Given the description of an element on the screen output the (x, y) to click on. 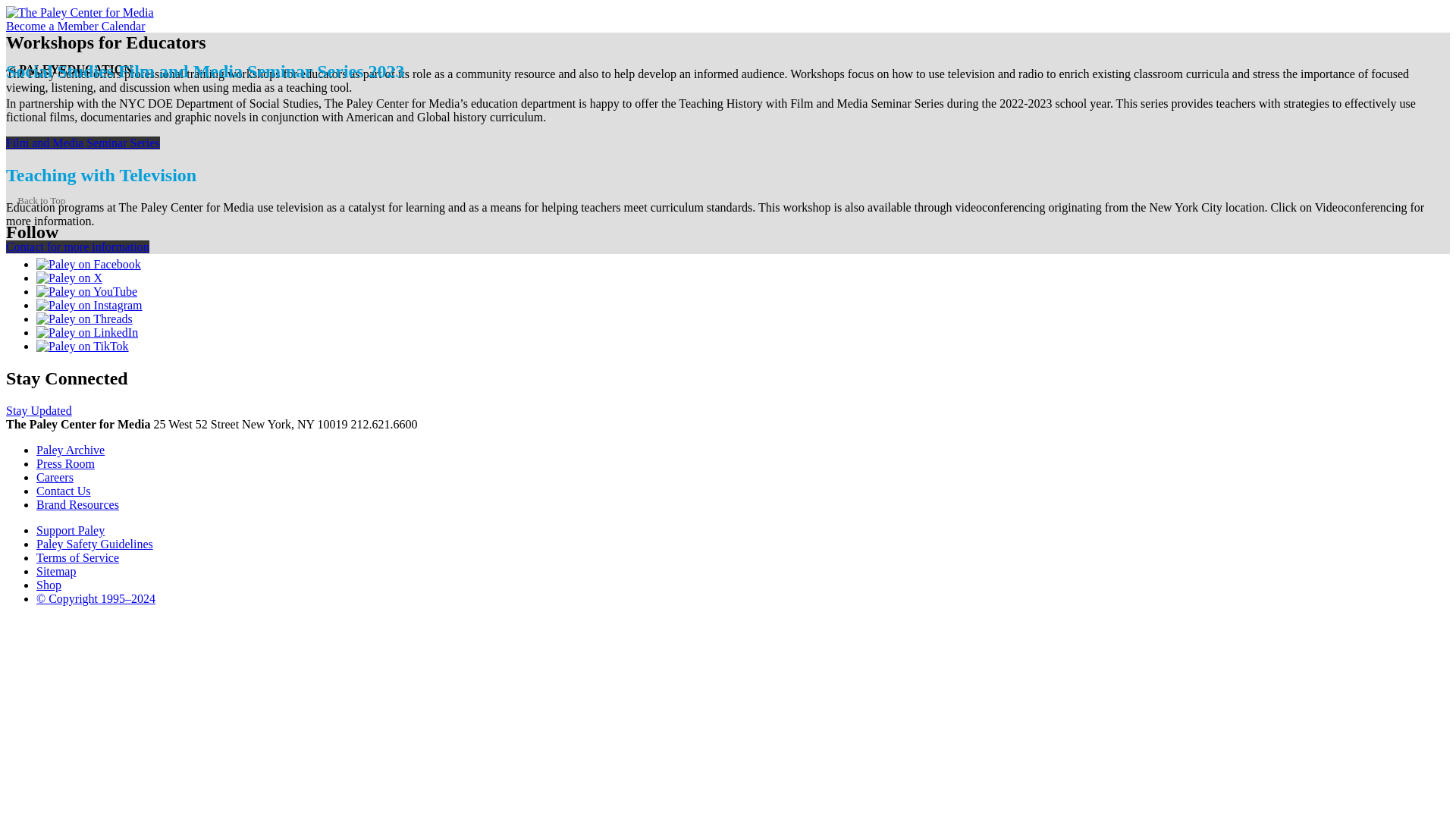
Press Room (65, 463)
Paley Archive (70, 449)
Careers (55, 477)
PALEYEDUCATION (75, 69)
The Paley Center for Media (79, 11)
Sitemap (55, 571)
Back to Top (35, 200)
Stay Updated (38, 410)
Brand Resources (77, 504)
Contact for more information (77, 246)
Paley Safety Guidelines (94, 543)
Contact Us (63, 490)
Calendar (123, 25)
Shop (48, 584)
Film and Media Seminar Series (82, 142)
